Given the description of an element on the screen output the (x, y) to click on. 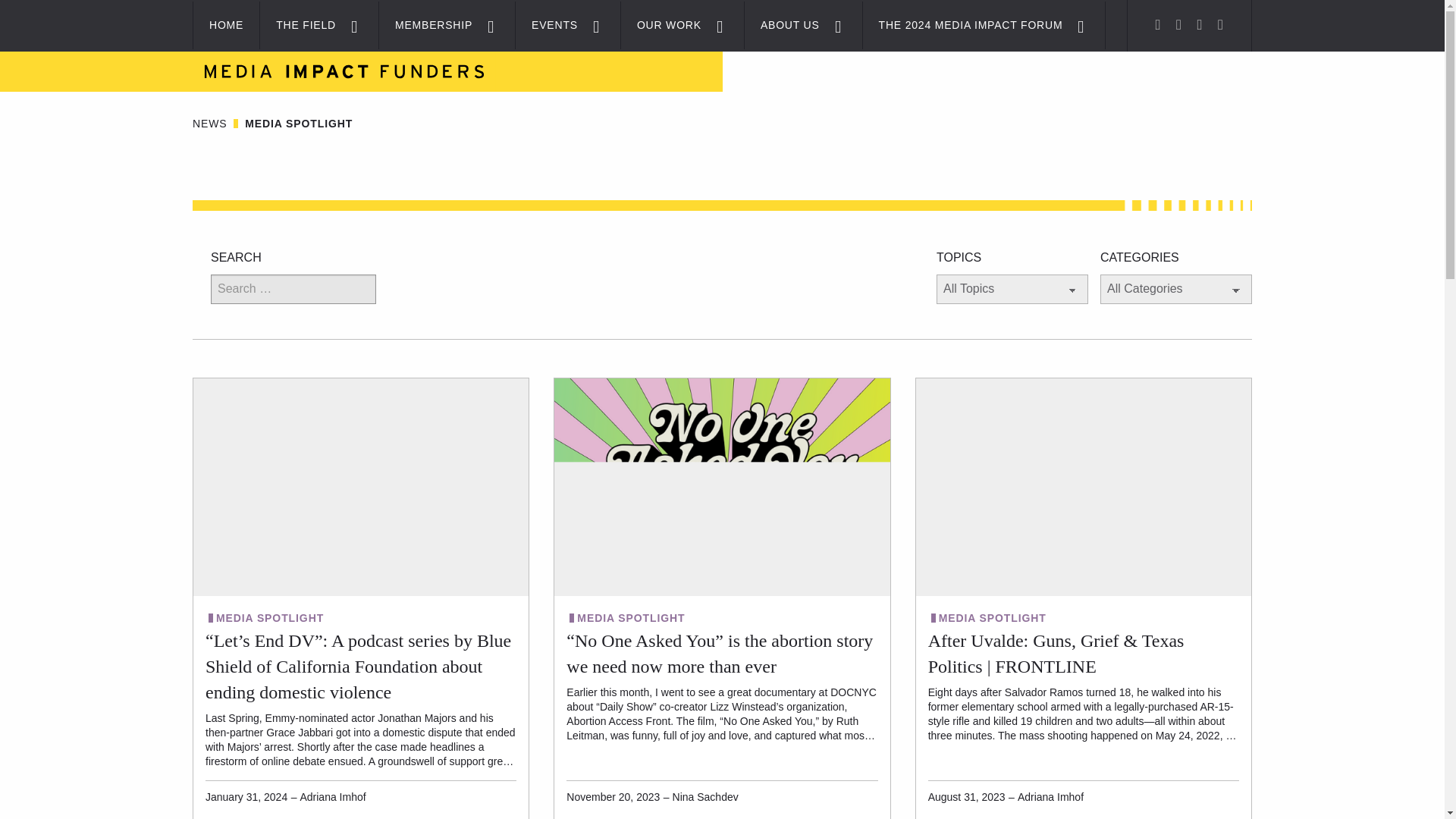
OUR WORK (661, 25)
Go to News. (209, 123)
MEMBERSHIP (424, 25)
THE 2024 MEDIA IMPACT FORUM (962, 25)
HOME (226, 25)
THE FIELD (298, 25)
ABOUT US (781, 25)
EVENTS (546, 25)
